Given the description of an element on the screen output the (x, y) to click on. 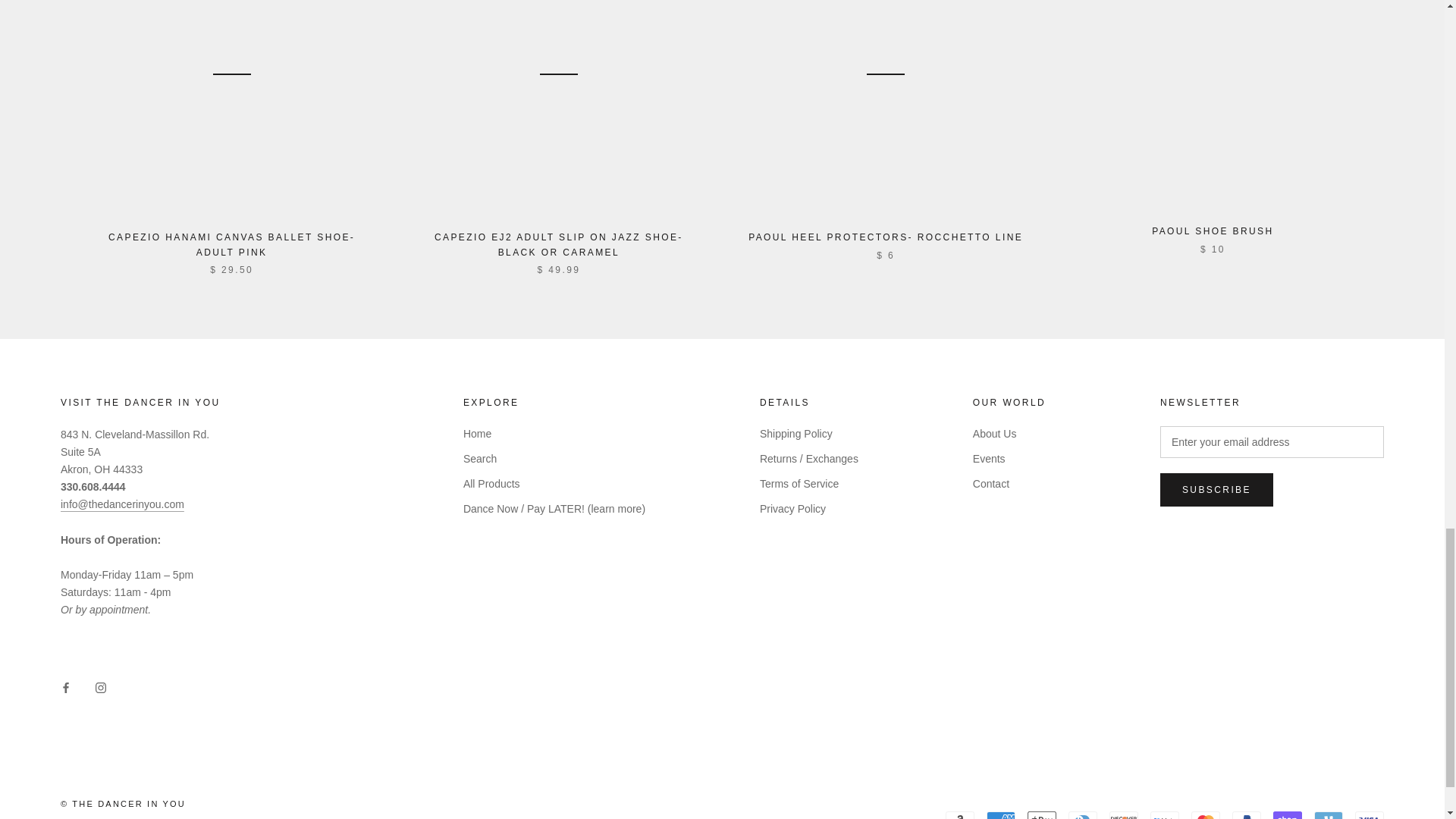
Apple Pay (1042, 815)
Shop Pay (1286, 815)
Discover (1123, 815)
American Express (1000, 815)
Diners Club (1082, 815)
Amazon (959, 815)
Meta Pay (1164, 815)
PayPal (1245, 815)
Mastercard (1205, 815)
